Given the description of an element on the screen output the (x, y) to click on. 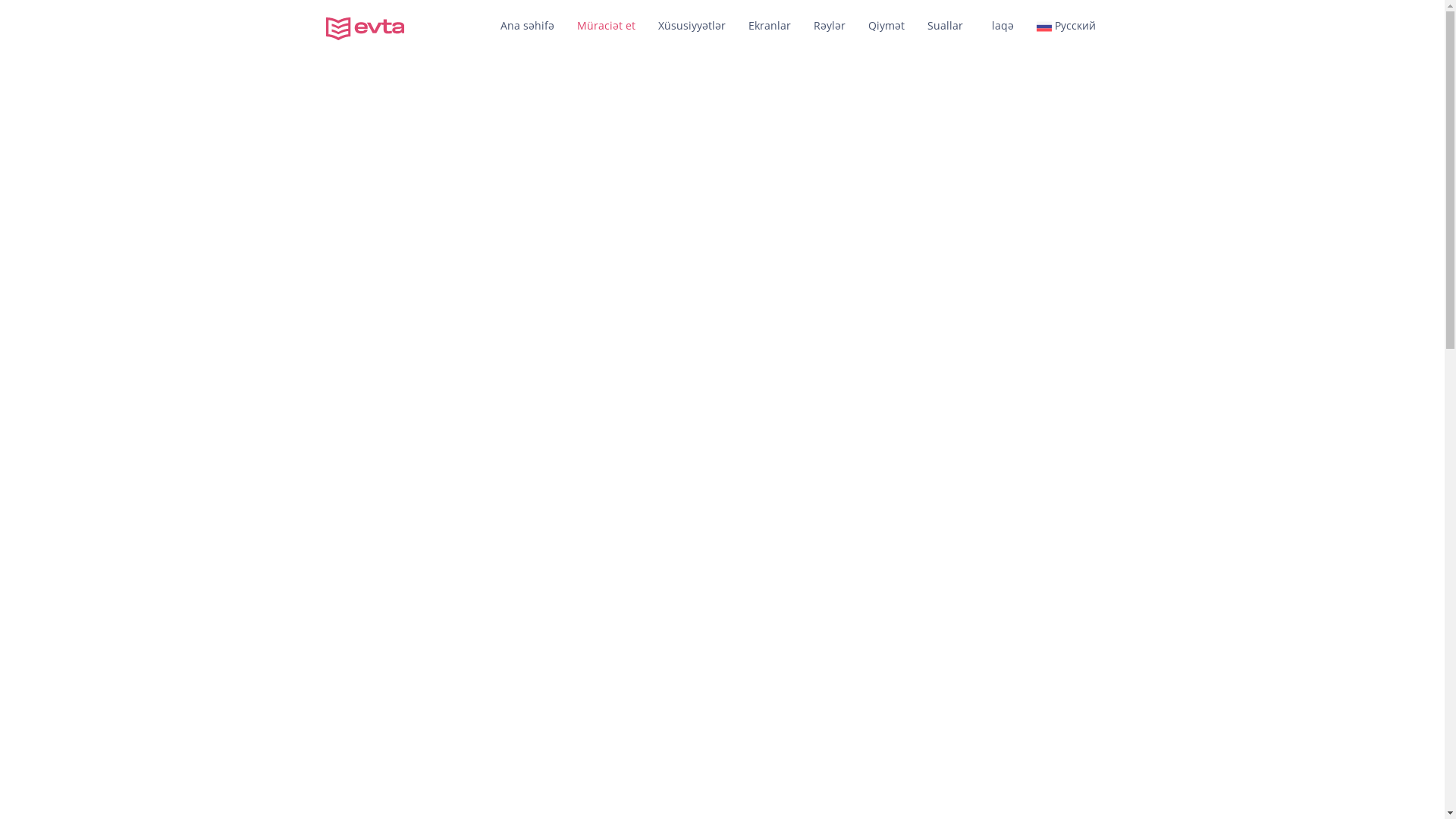
Suallar Element type: text (945, 26)
Ekranlar Element type: text (769, 26)
